Given the description of an element on the screen output the (x, y) to click on. 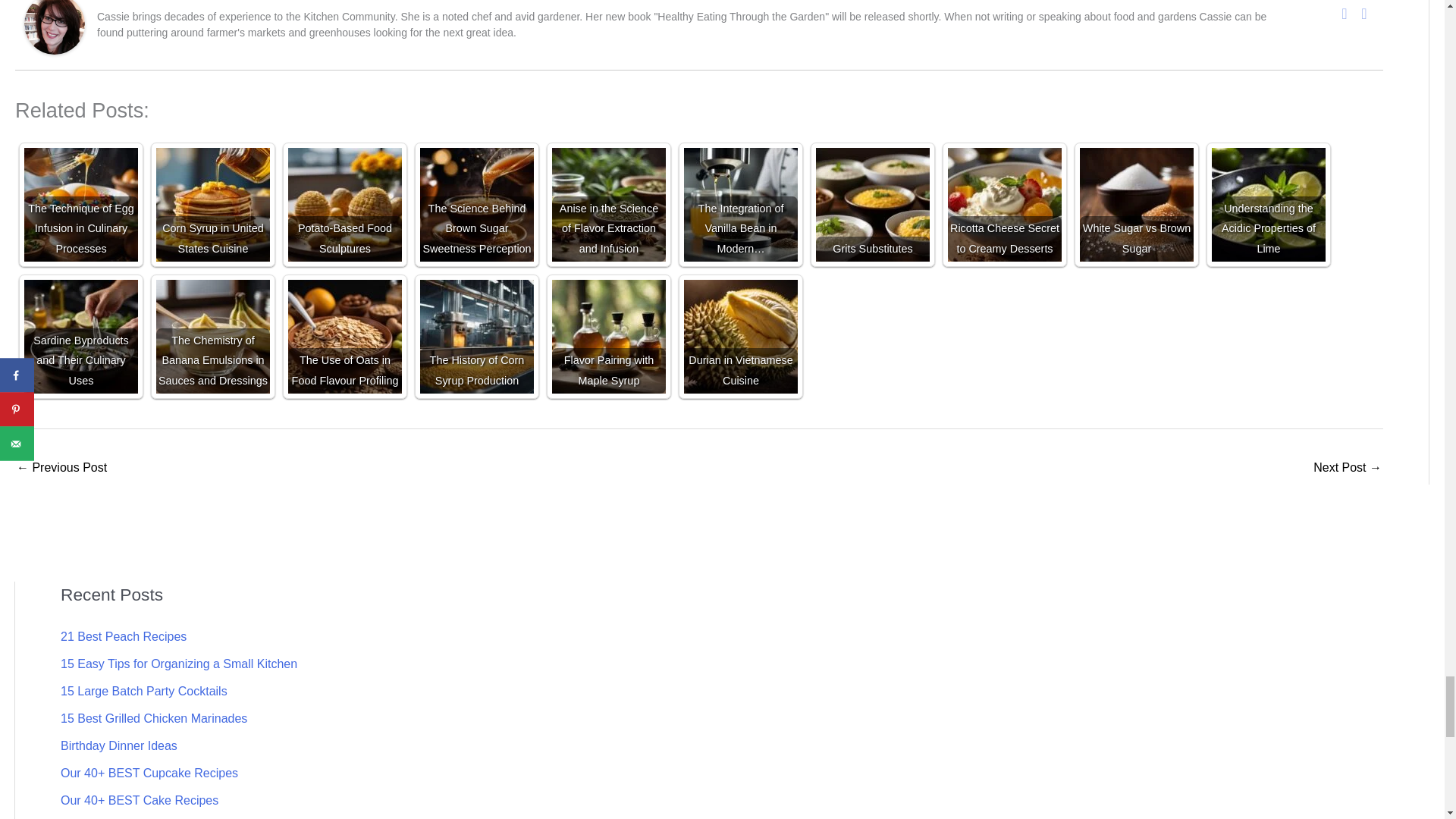
The Science Behind Brown Sugar Sweetness Perception (477, 204)
Anise in the Science of Flavor Extraction and Infusion (608, 204)
Cassie Marshall (54, 22)
Twitter (1364, 13)
The Technique of Egg Infusion in Culinary Processes (81, 204)
Facebook (1344, 13)
Corn Syrup in United States Cuisine (212, 204)
Potato-Based Food Sculptures (344, 204)
Grits Substitutes (872, 204)
